Given the description of an element on the screen output the (x, y) to click on. 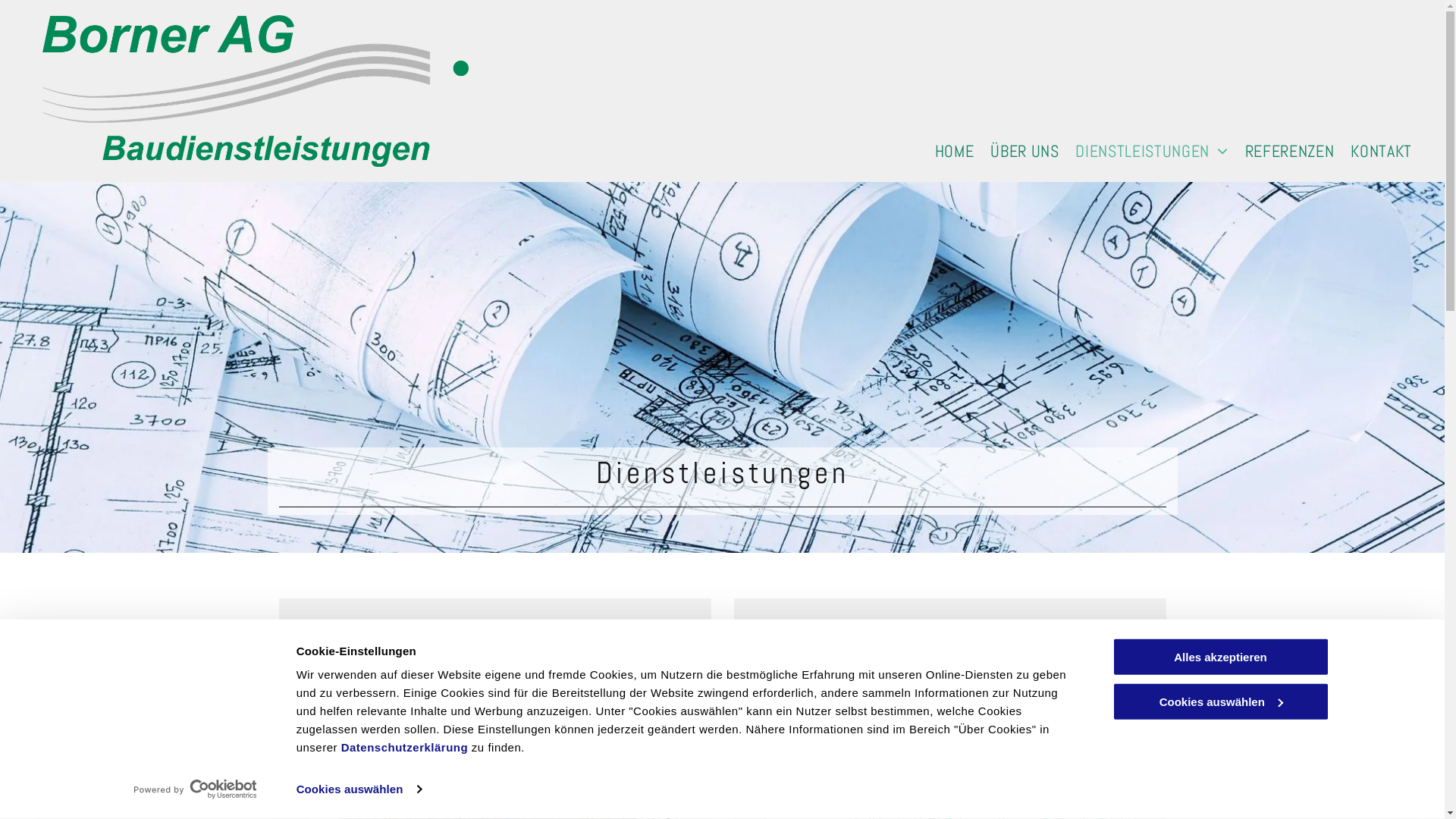
KONTAKT Element type: text (1382, 150)
REFERENZEN Element type: text (1291, 150)
HOME Element type: text (956, 150)
Alles akzeptieren Element type: text (1219, 656)
DIENSTLEISTUNGEN Element type: text (1152, 150)
